Given the description of an element on the screen output the (x, y) to click on. 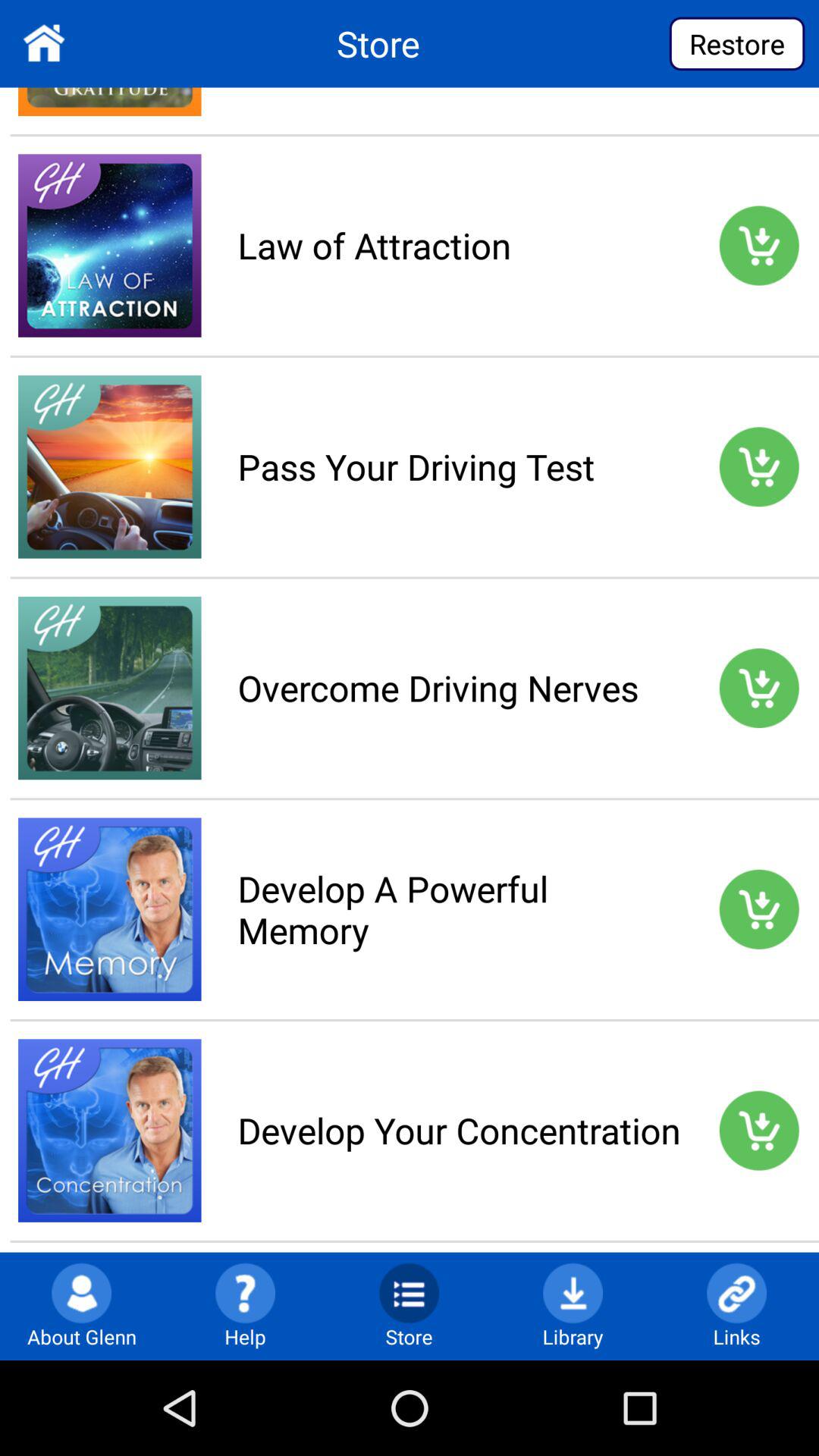
choose the develop your concentration app (459, 1130)
